Given the description of an element on the screen output the (x, y) to click on. 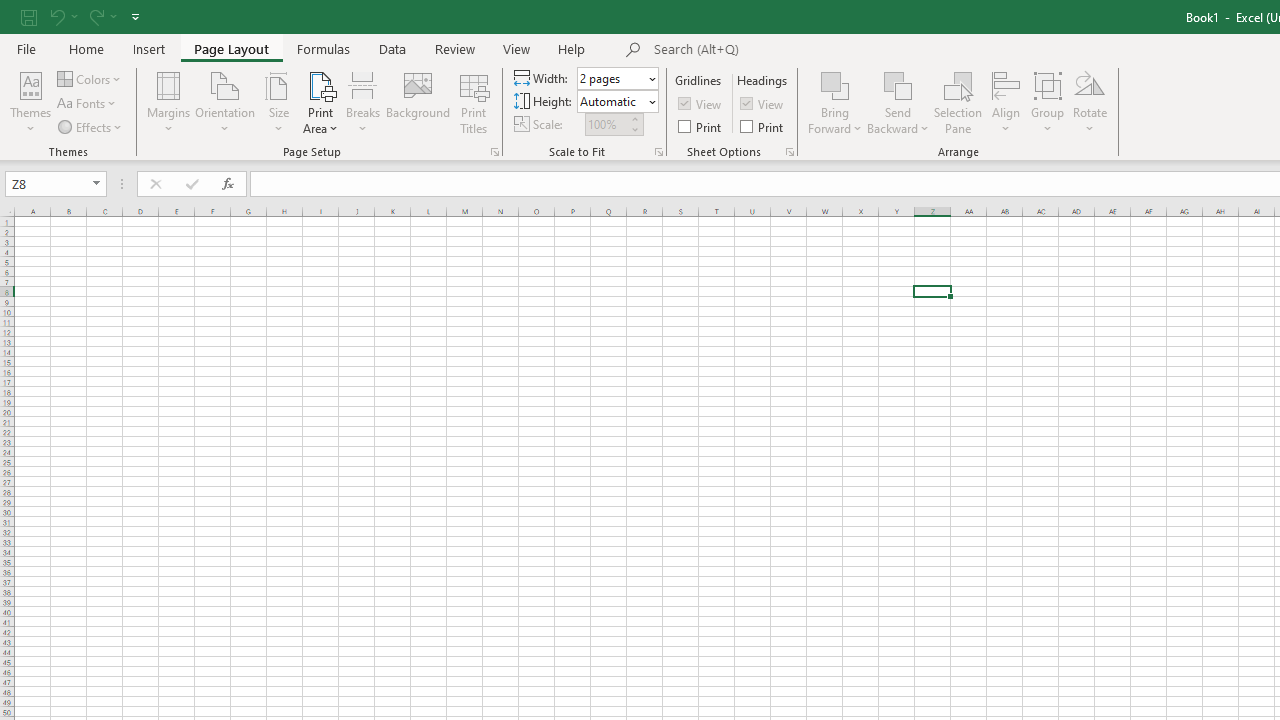
Rotate (1089, 102)
Selection Pane... (958, 102)
Print Area (320, 102)
Send Backward (898, 102)
Print Titles (474, 102)
Less (633, 129)
